Given the description of an element on the screen output the (x, y) to click on. 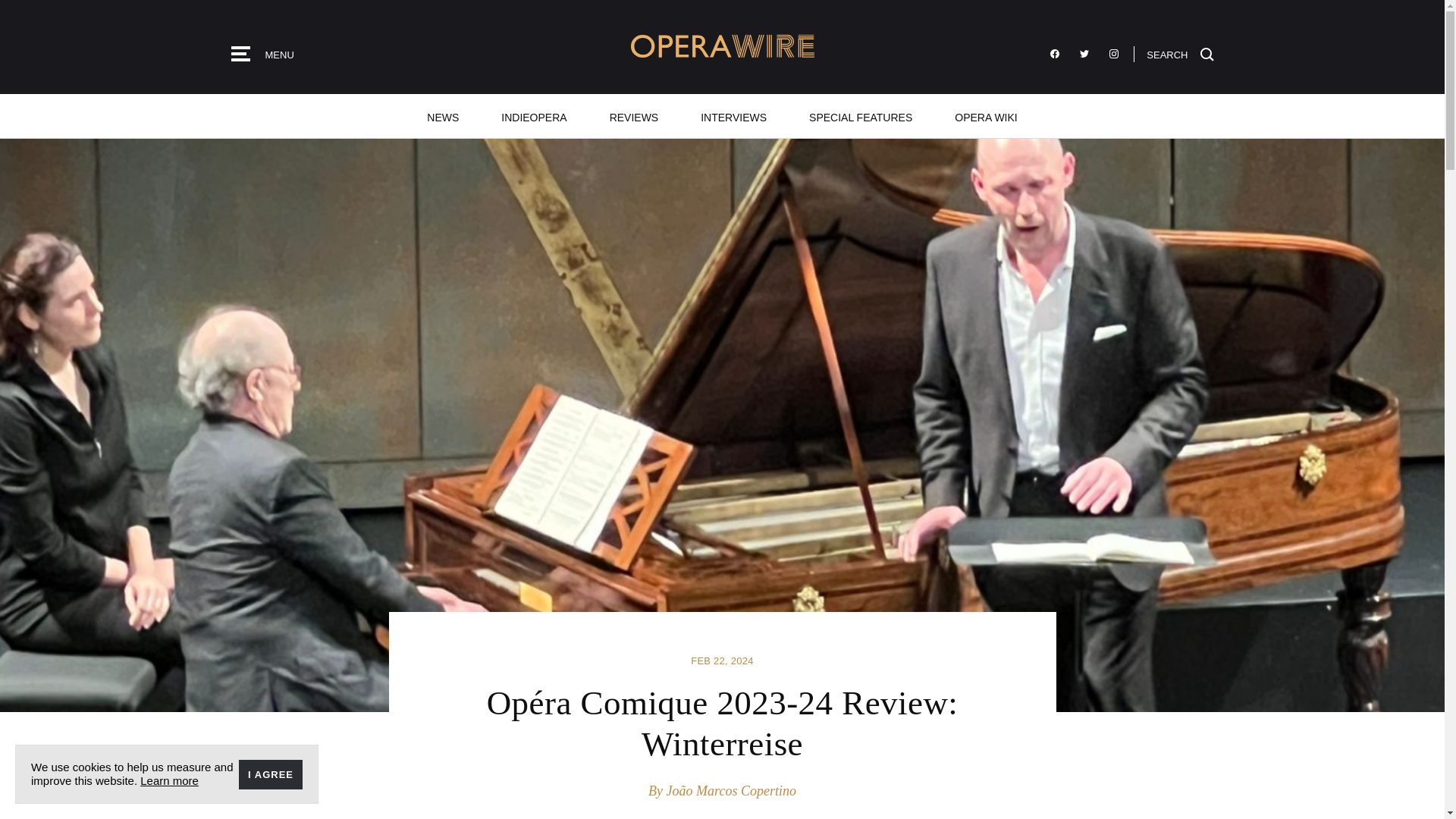
OPERA WIKI (985, 116)
I AGREE (270, 774)
Follow OperaWire on Twitter (1084, 53)
NEWS (443, 116)
SPECIAL FEATURES (860, 116)
REVIEWS (633, 116)
Learn more (168, 780)
SEARCH (1179, 53)
INDIEOPERA (533, 116)
Like OperaWire on Facebook (1054, 53)
